Given the description of an element on the screen output the (x, y) to click on. 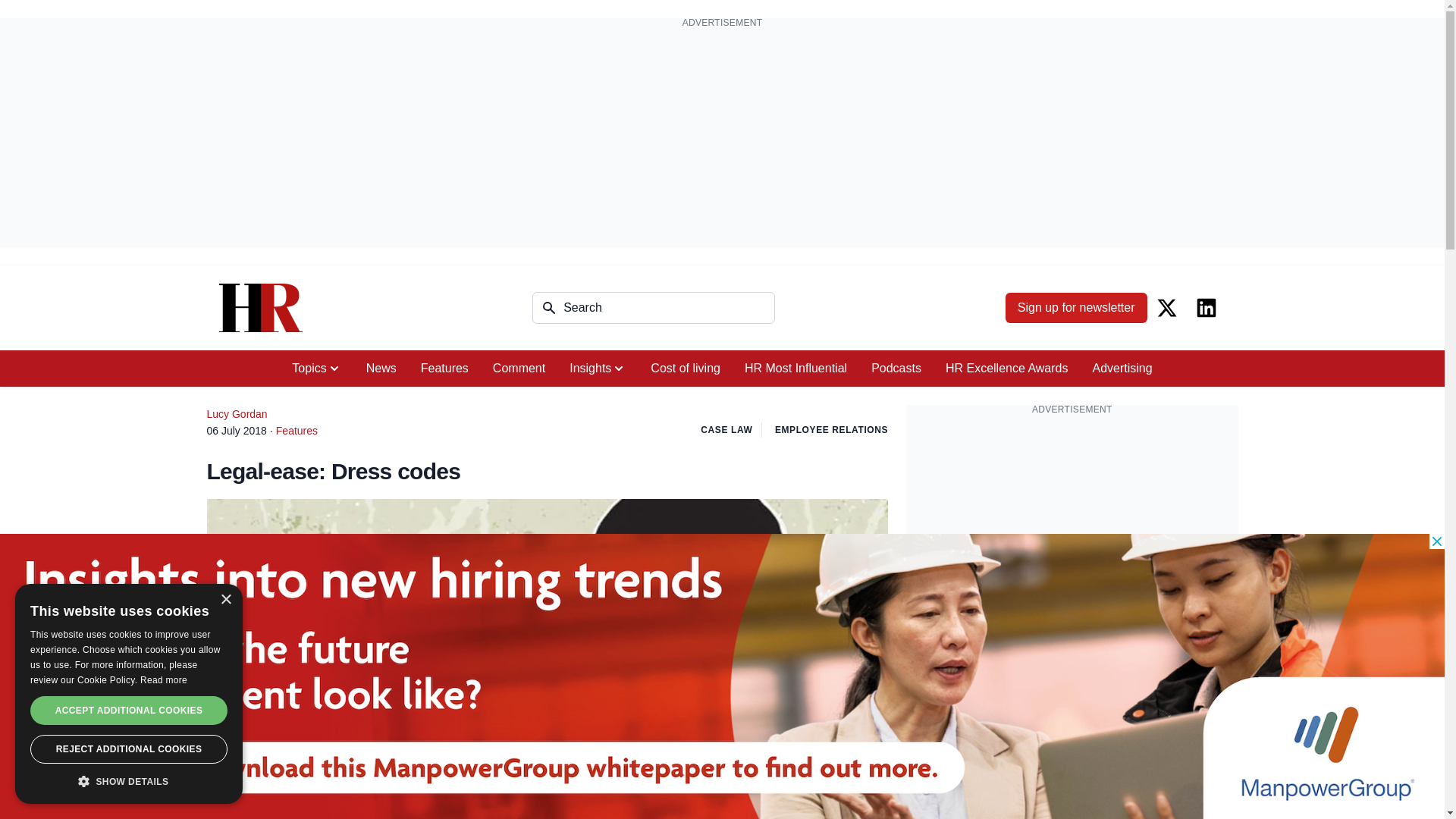
Cost of living (685, 368)
Insights (598, 368)
Sign up for newsletter (1076, 307)
Features (444, 368)
3rd party ad content (1072, 520)
HR Most Influential (795, 368)
Comment (518, 368)
News (381, 368)
Topics (316, 368)
